Given the description of an element on the screen output the (x, y) to click on. 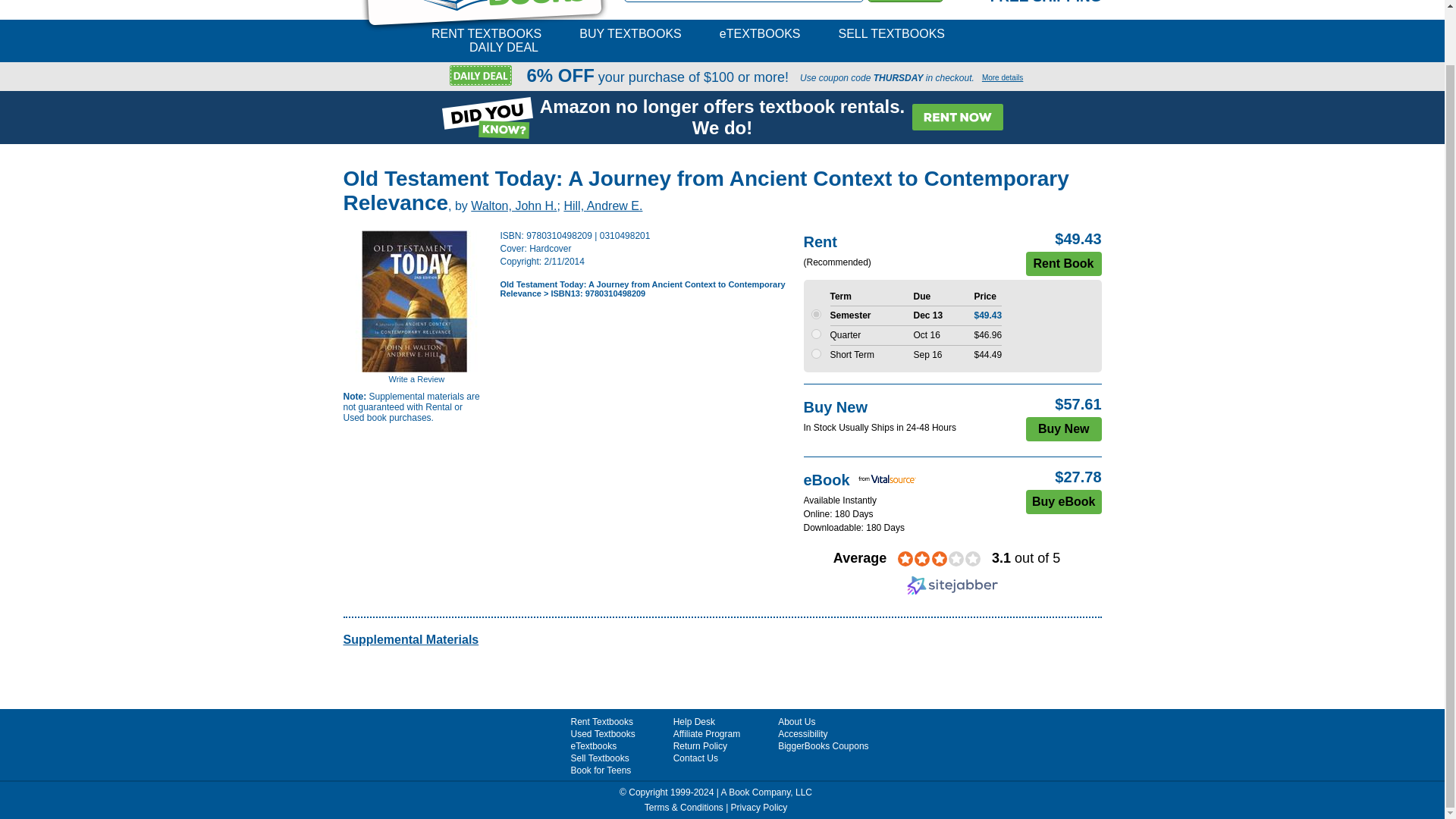
eTEXTBOOKS (759, 33)
rt130days (815, 314)
RENT TEXTBOOKS (485, 33)
Return Policy (699, 746)
Rent Book (1062, 263)
Rent Book (1062, 263)
rt60days (815, 353)
3.1 out of 5 (1025, 557)
SELL TEXTBOOKS (891, 33)
Help Desk (693, 721)
Buy eBook (1064, 501)
DAILY DEAL (503, 47)
BUY TEXTBOOKS (630, 33)
Find Books (905, 1)
